Given the description of an element on the screen output the (x, y) to click on. 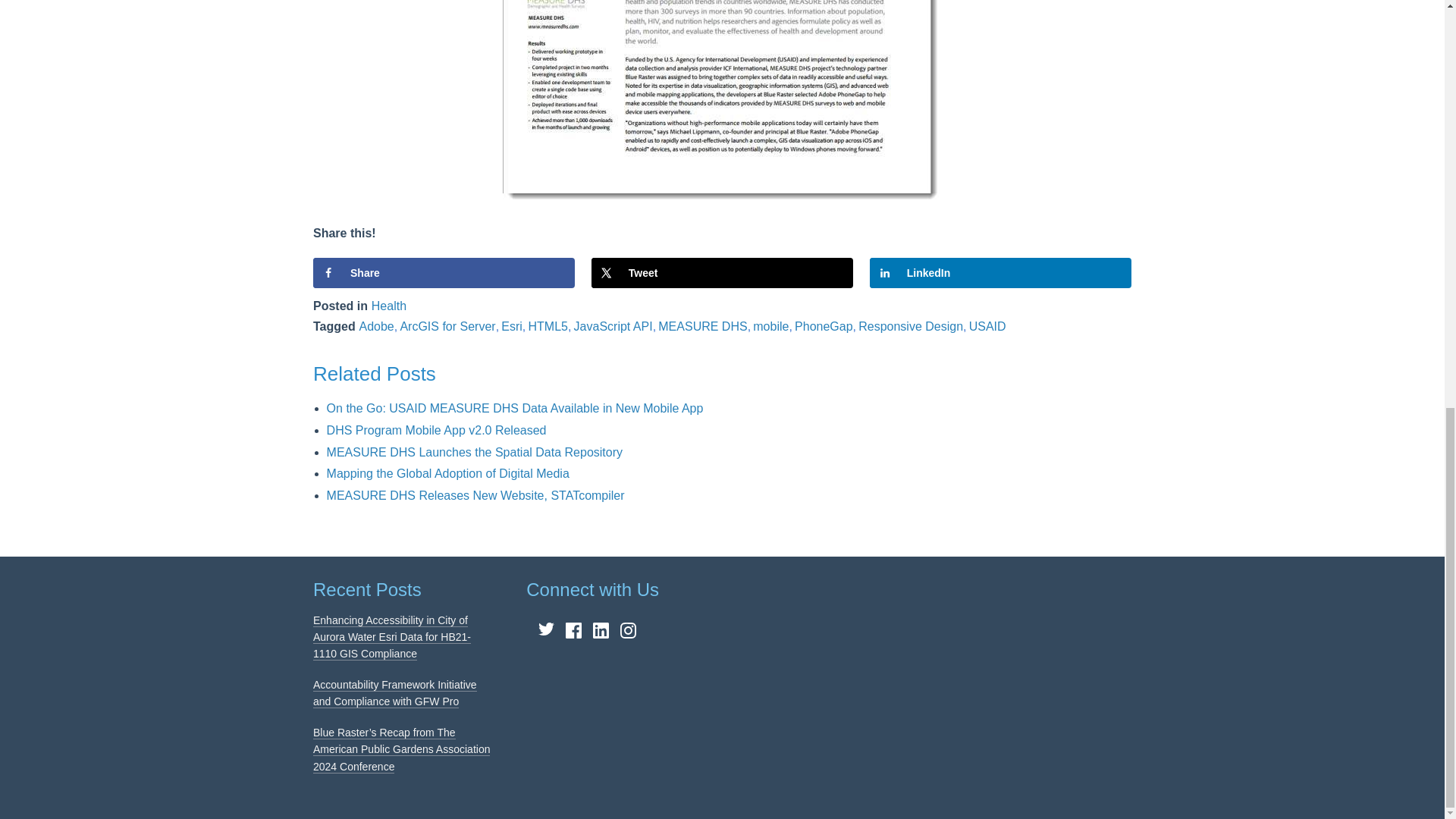
MEASURE DHS Releases New Website, STATcompiler (475, 495)
Health (388, 305)
MEASURE DHS Launches the Spatial Data Repository (474, 451)
Esri (511, 326)
LinkedIn (1000, 272)
Mapping the Global Adoption of Digital Media (447, 472)
Share on Facebook (444, 272)
Share on LinkedIn (1000, 272)
USAID (987, 326)
